Given the description of an element on the screen output the (x, y) to click on. 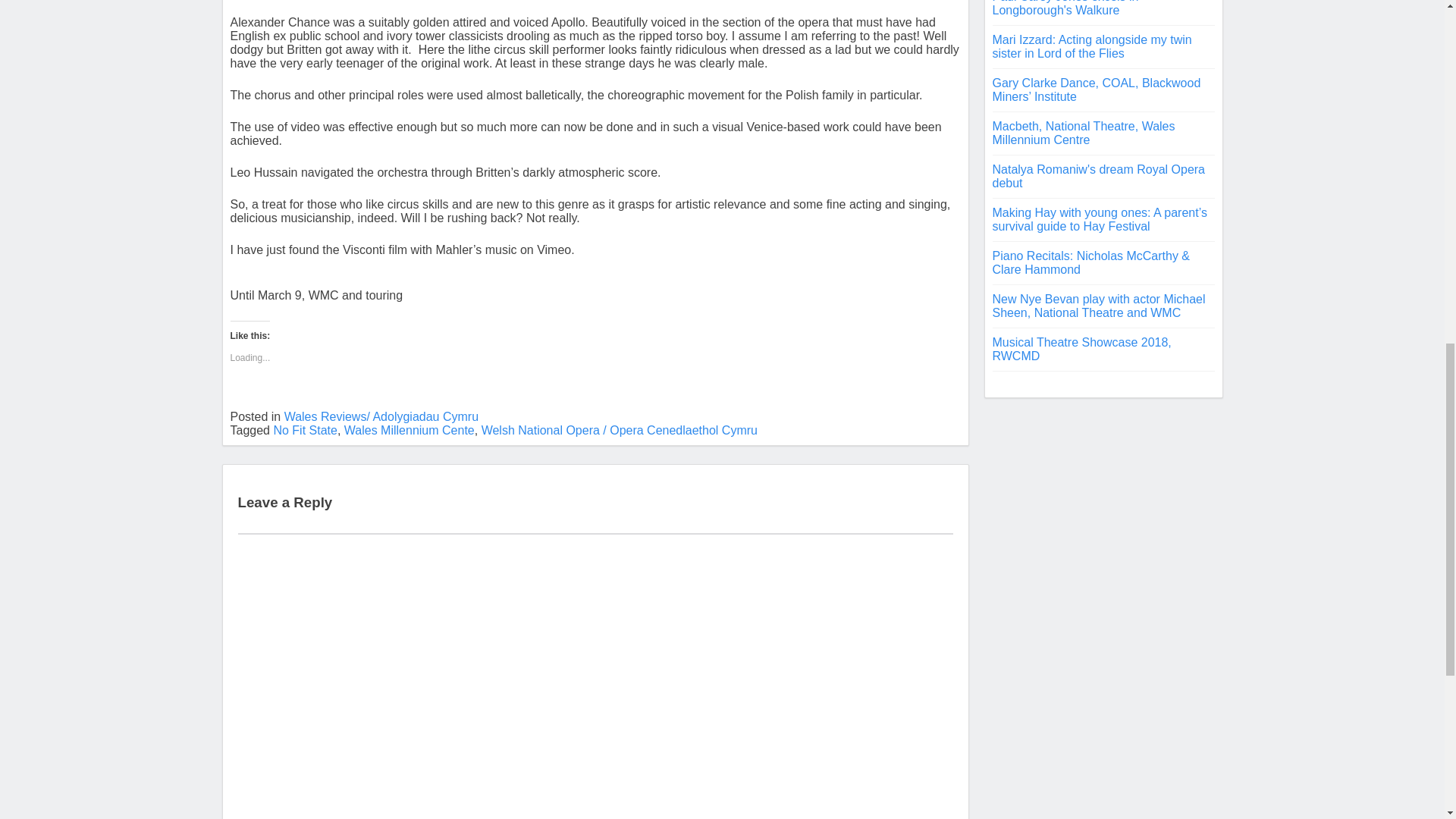
No Fit State (304, 430)
Natalya Romaniw's dream Royal Opera debut (1098, 175)
Paul Carey Jones excels in Longborough's Walkure (1064, 8)
Wales Millennium Cente (408, 430)
Macbeth, National Theatre, Wales Millennium Centre (1082, 132)
